Given the description of an element on the screen output the (x, y) to click on. 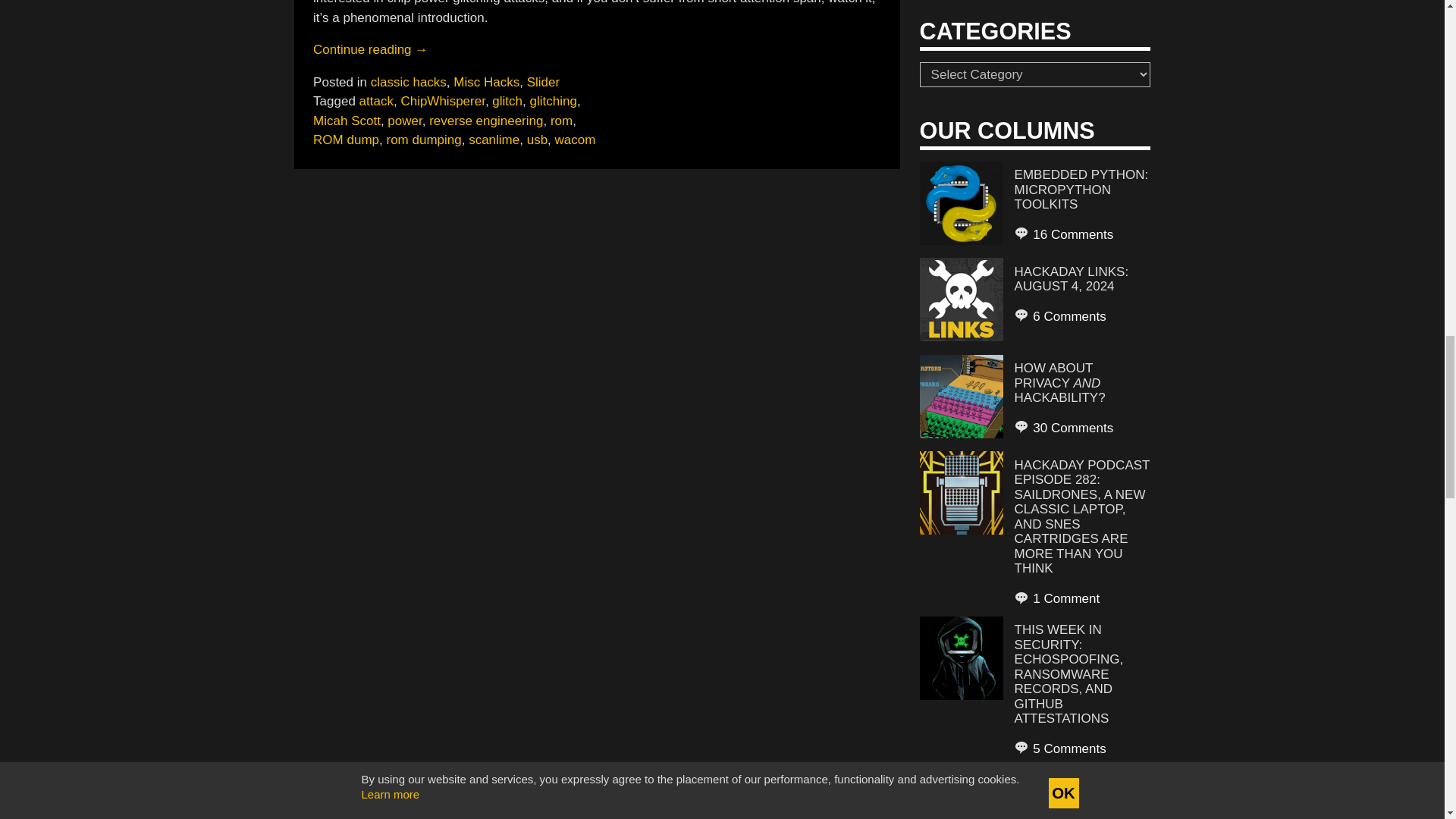
classic hacks (408, 82)
Misc Hacks (485, 82)
